Given the description of an element on the screen output the (x, y) to click on. 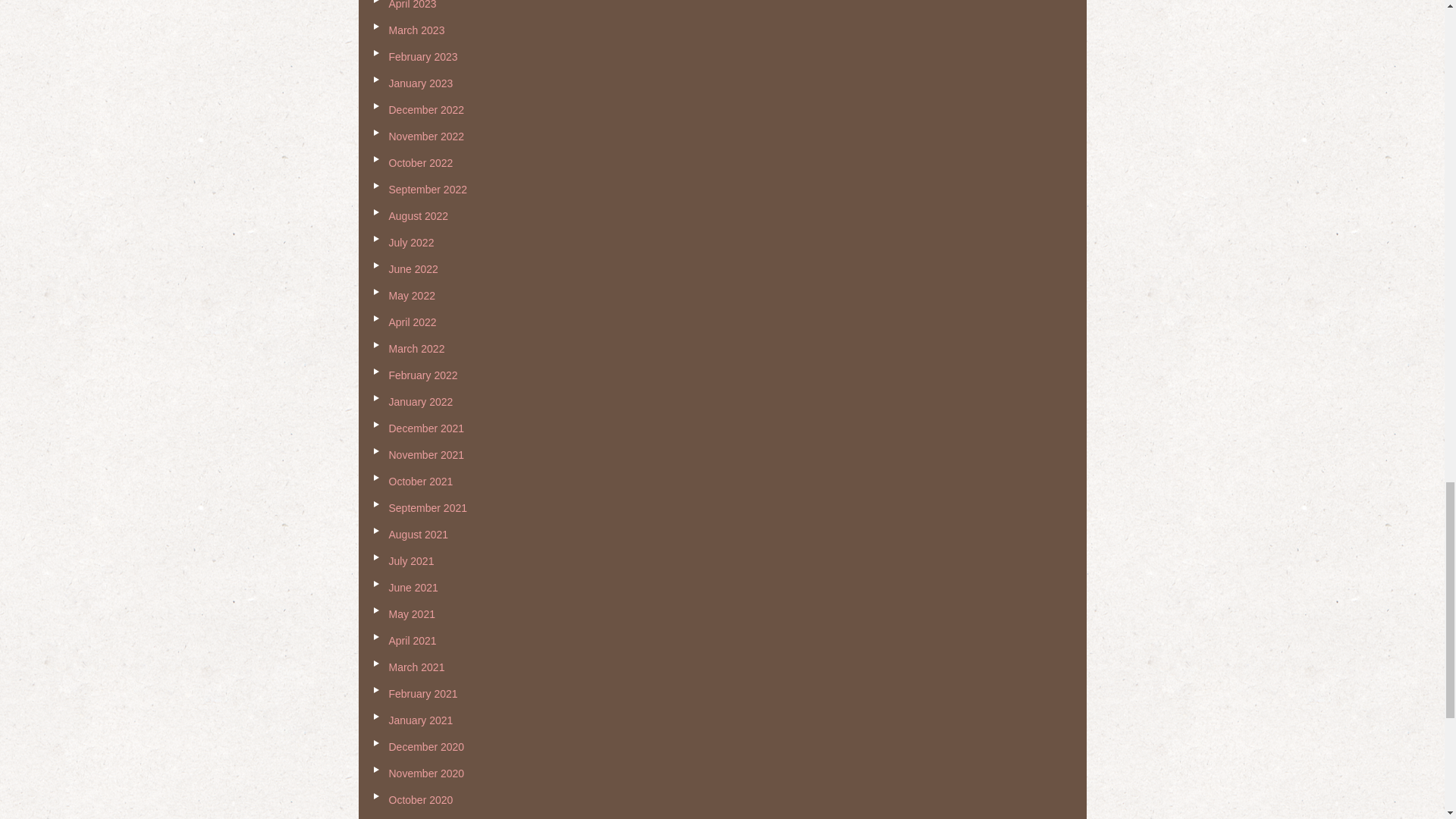
July 2022 (410, 242)
March 2023 (416, 30)
November 2022 (426, 136)
February 2023 (422, 56)
December 2022 (426, 110)
April 2023 (411, 4)
August 2022 (418, 215)
September 2022 (427, 189)
October 2022 (420, 162)
January 2023 (420, 82)
